Given the description of an element on the screen output the (x, y) to click on. 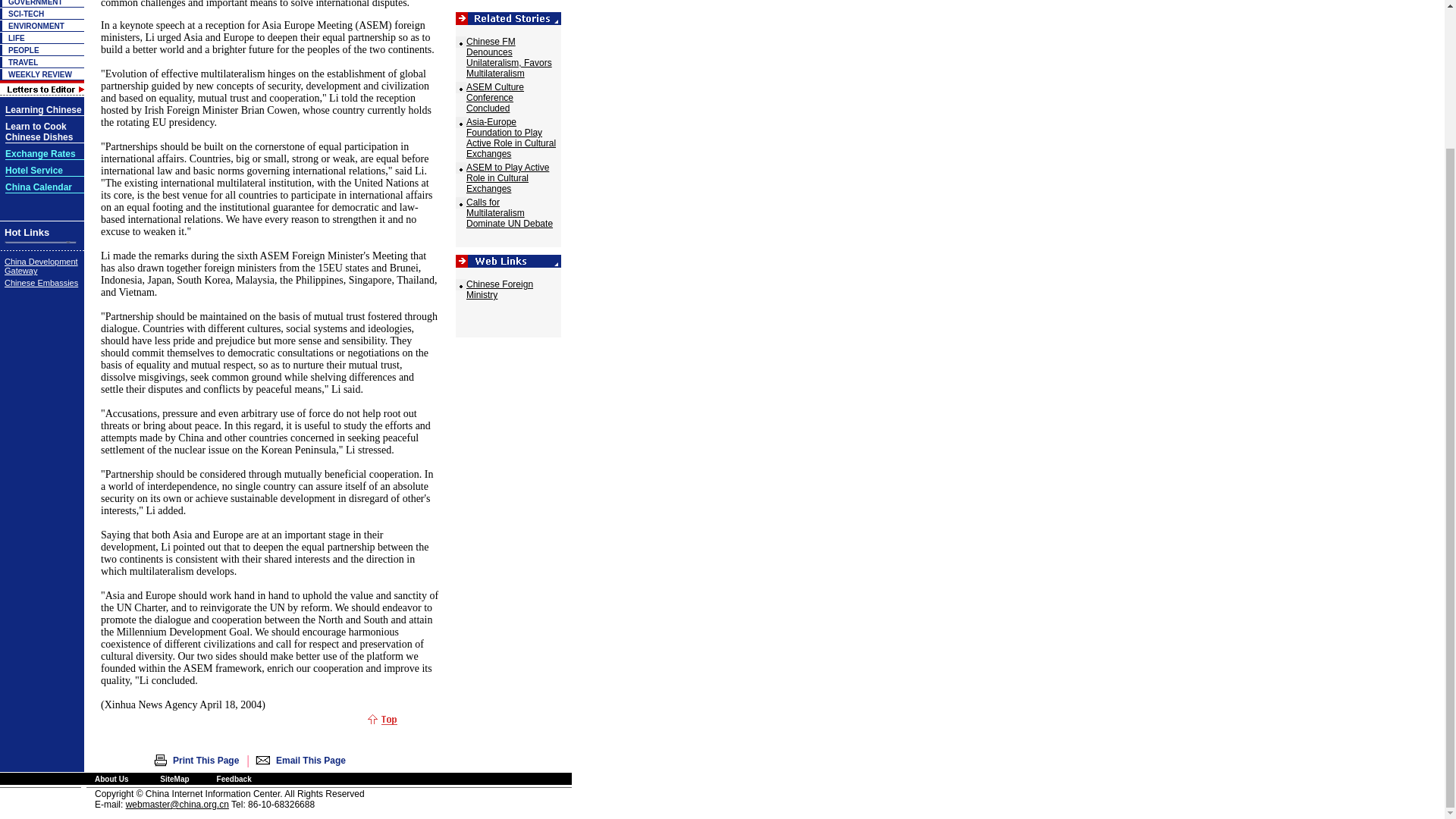
Chinese FM Denounces Unilateralism, Favors Multilateralism (508, 57)
GOVERNMENT (35, 2)
Learn to Cook Chinese Dishes (38, 131)
SiteMap (174, 777)
China Calendar (38, 186)
Chinese Foreign Ministry (498, 289)
LIFE (16, 38)
China Development Gateway (41, 266)
Exchange Rates (40, 153)
Learning Chinese (43, 110)
